Given the description of an element on the screen output the (x, y) to click on. 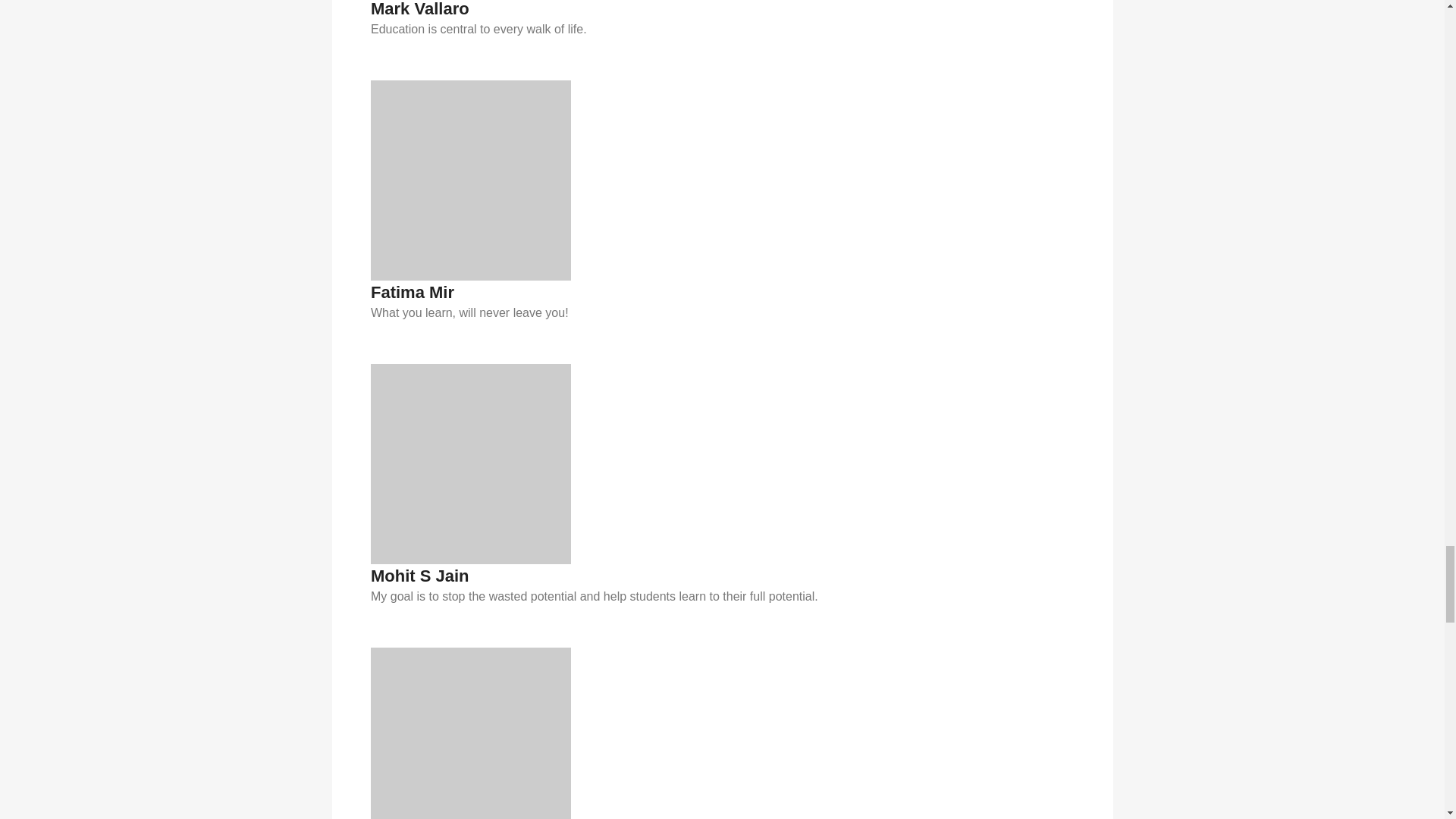
What you learn, will never leave you! (722, 312)
Education is central to every walk of life. (722, 29)
